Given the description of an element on the screen output the (x, y) to click on. 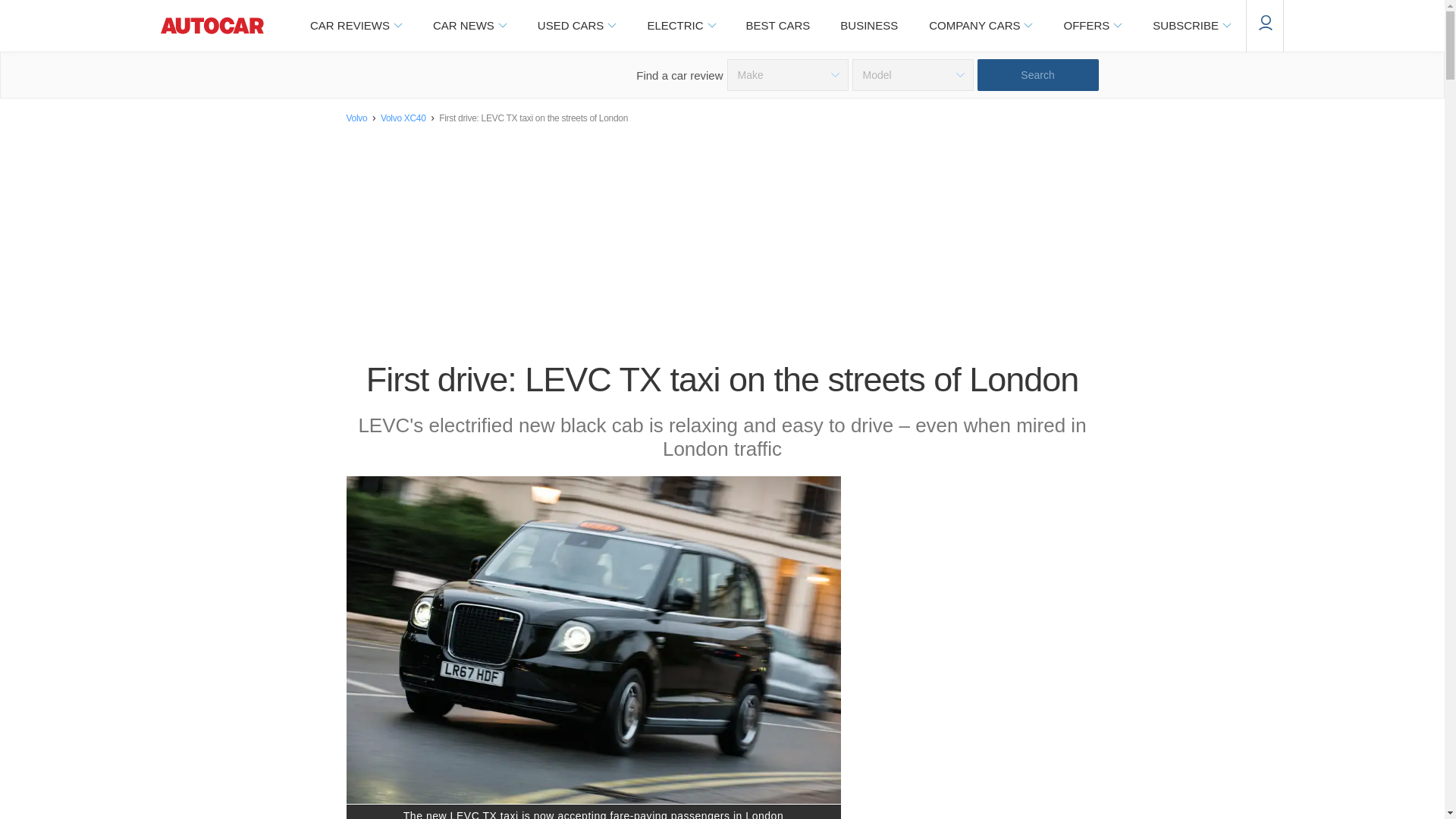
ELECTRIC (680, 26)
CAR REVIEWS (355, 26)
USED CARS (576, 26)
Search (1036, 74)
Home (211, 25)
BEST CARS (777, 26)
BUSINESS (868, 26)
Autocar Business news, insight and opinion (868, 26)
Autocar Electric (680, 26)
Search (1036, 74)
